Given the description of an element on the screen output the (x, y) to click on. 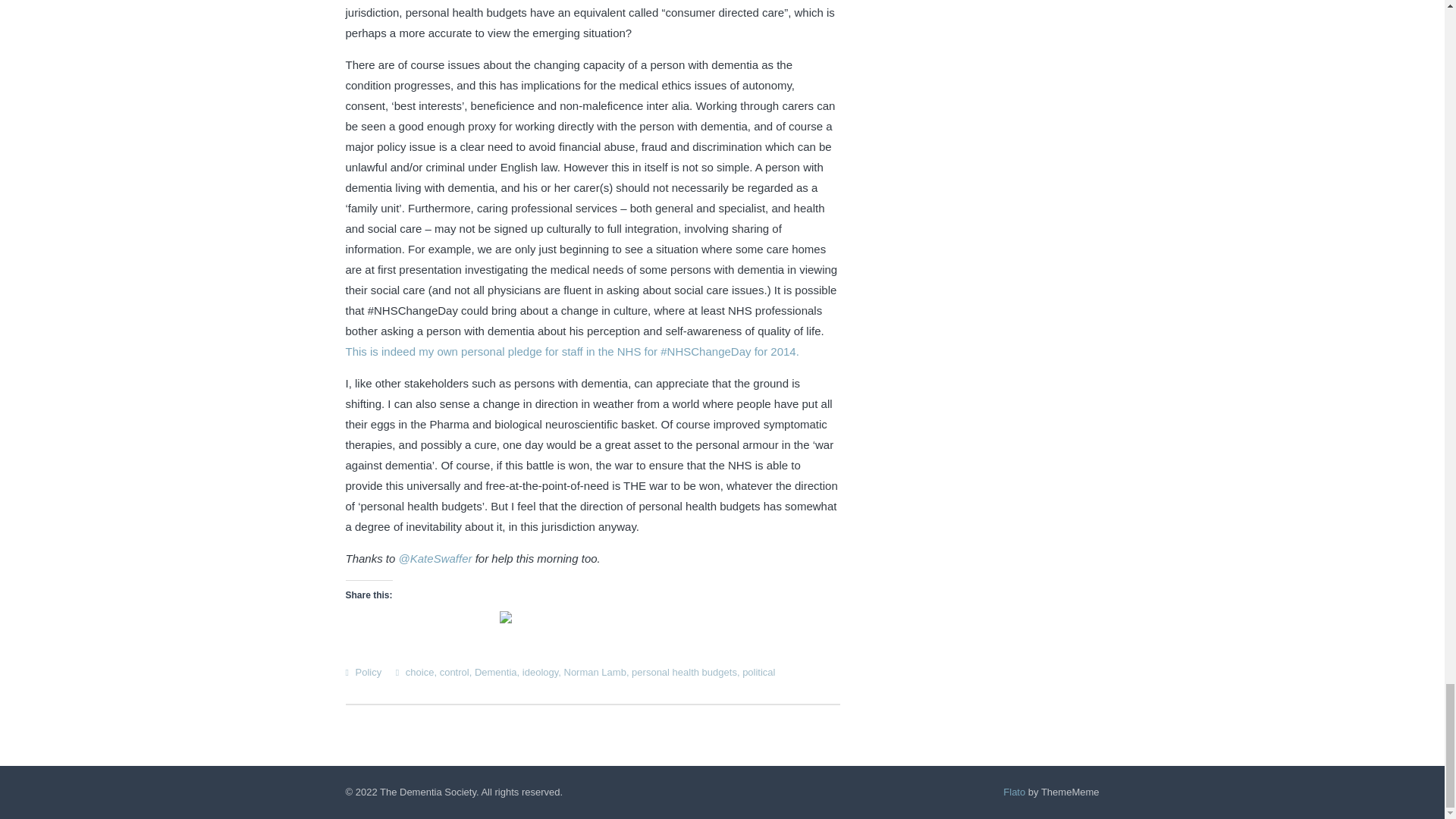
Dementia (495, 672)
ideology (539, 672)
personal health budgets (683, 672)
choice (419, 672)
Share on Tumblr (468, 616)
Policy (368, 672)
political (758, 672)
control (453, 672)
Share on Tumblr (468, 616)
Norman Lamb (595, 672)
